Given the description of an element on the screen output the (x, y) to click on. 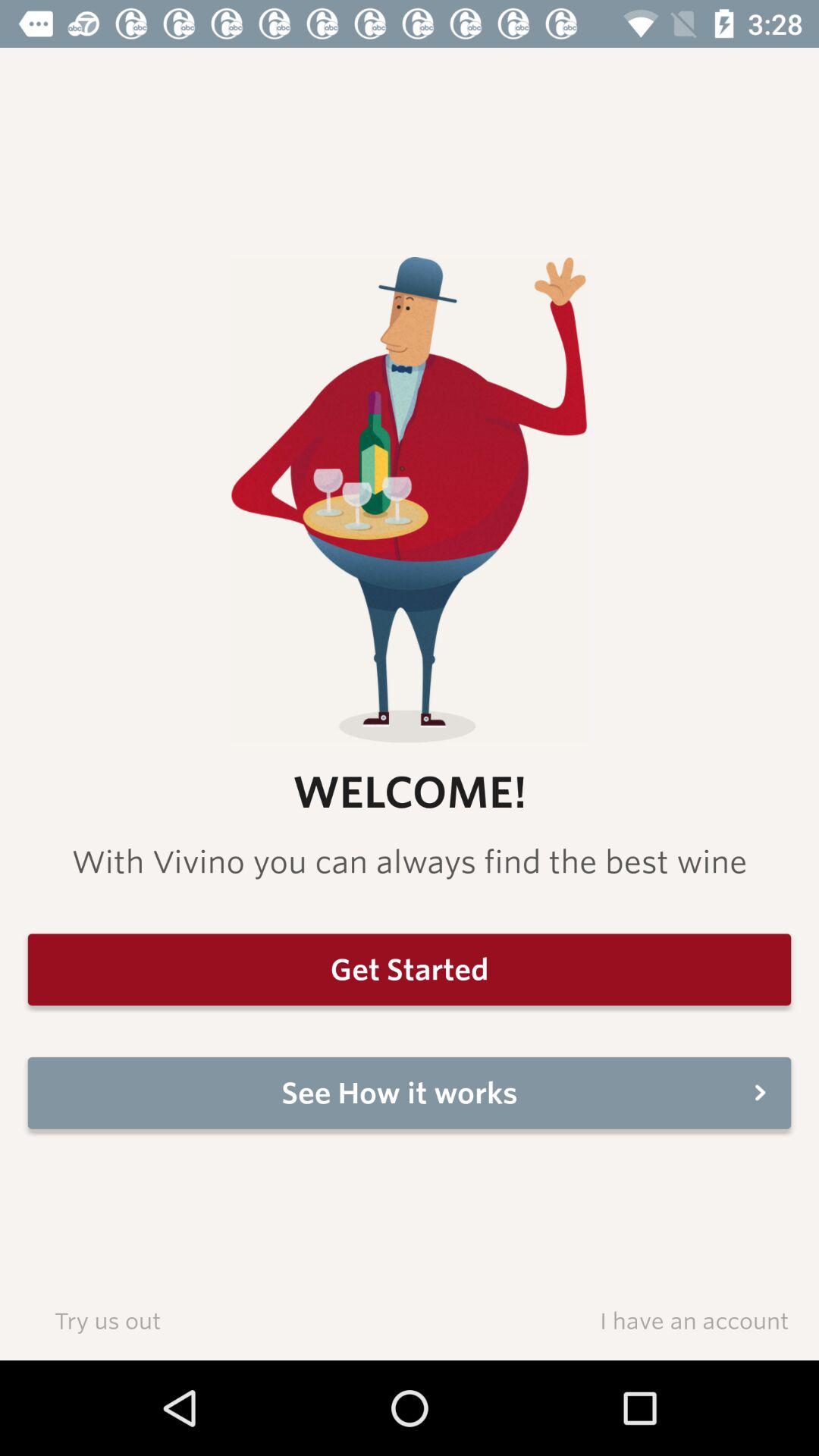
turn on the item next to the i have an item (107, 1320)
